Given the description of an element on the screen output the (x, y) to click on. 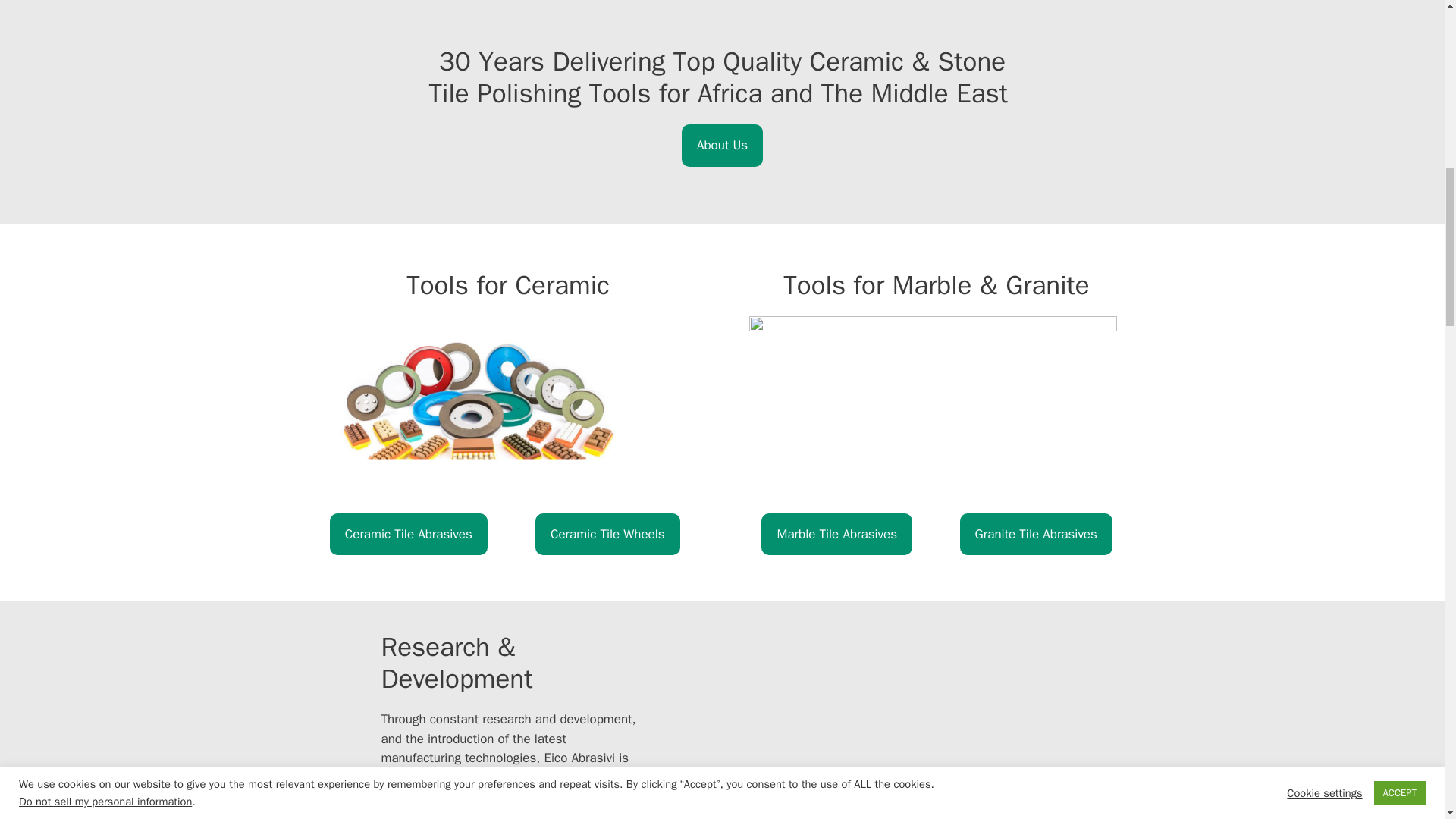
Granite Tile Abrasives (1035, 533)
Ceramic Tile Wheels (607, 533)
Marble Tile Abrasives (836, 533)
Ceramic Tile Abrasives (408, 533)
About Us (721, 145)
